Given the description of an element on the screen output the (x, y) to click on. 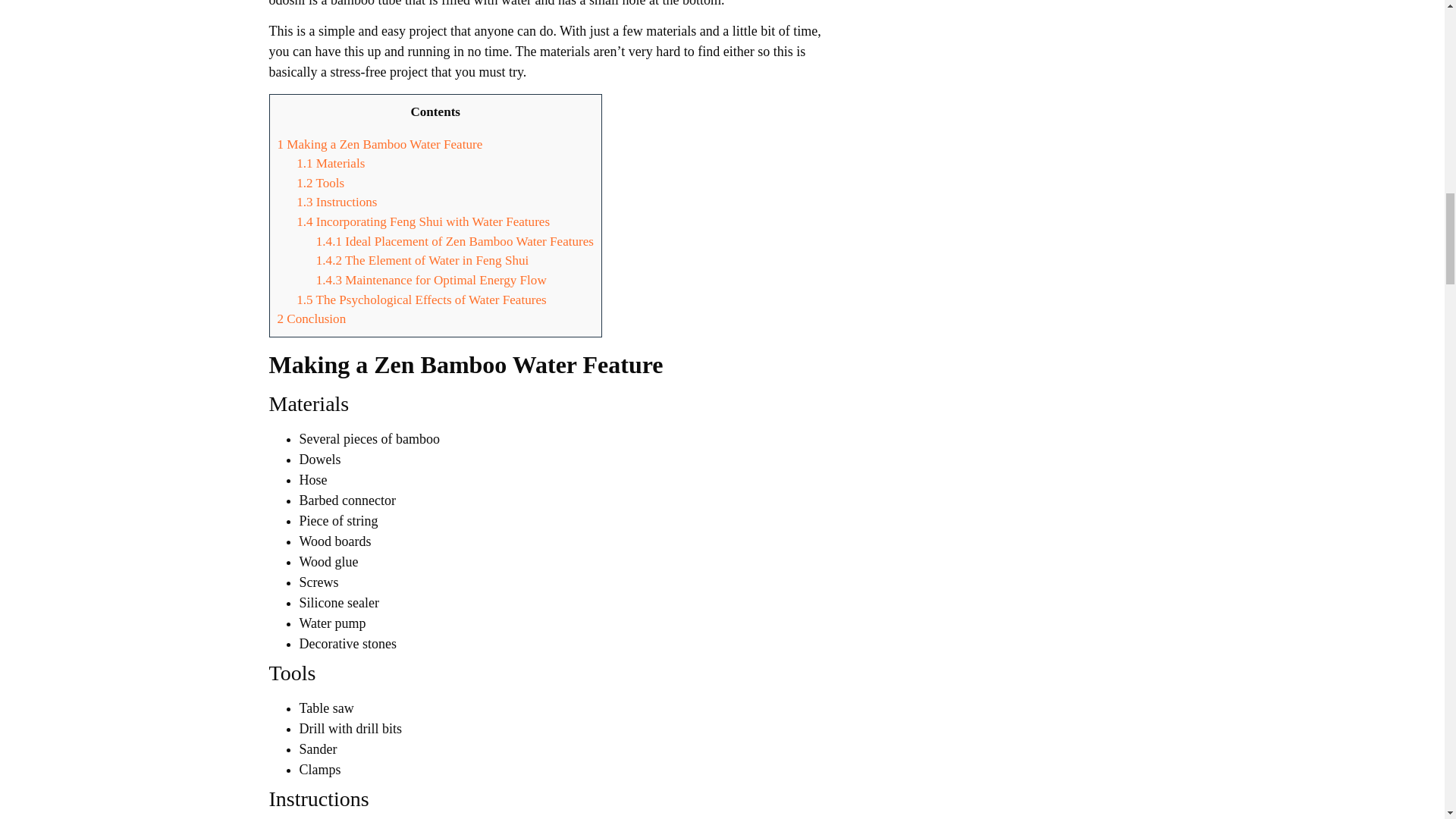
1.1 Materials (331, 163)
1 Making a Zen Bamboo Water Feature (380, 144)
1.4.3 Maintenance for Optimal Energy Flow (431, 279)
1.4.2 The Element of Water in Feng Shui (421, 260)
1.4 Incorporating Feng Shui with Water Features (423, 221)
1.3 Instructions (337, 201)
1.5 The Psychological Effects of Water Features (422, 299)
1.2 Tools (320, 183)
1.4.1 Ideal Placement of Zen Bamboo Water Features (454, 241)
2 Conclusion (312, 318)
